Given the description of an element on the screen output the (x, y) to click on. 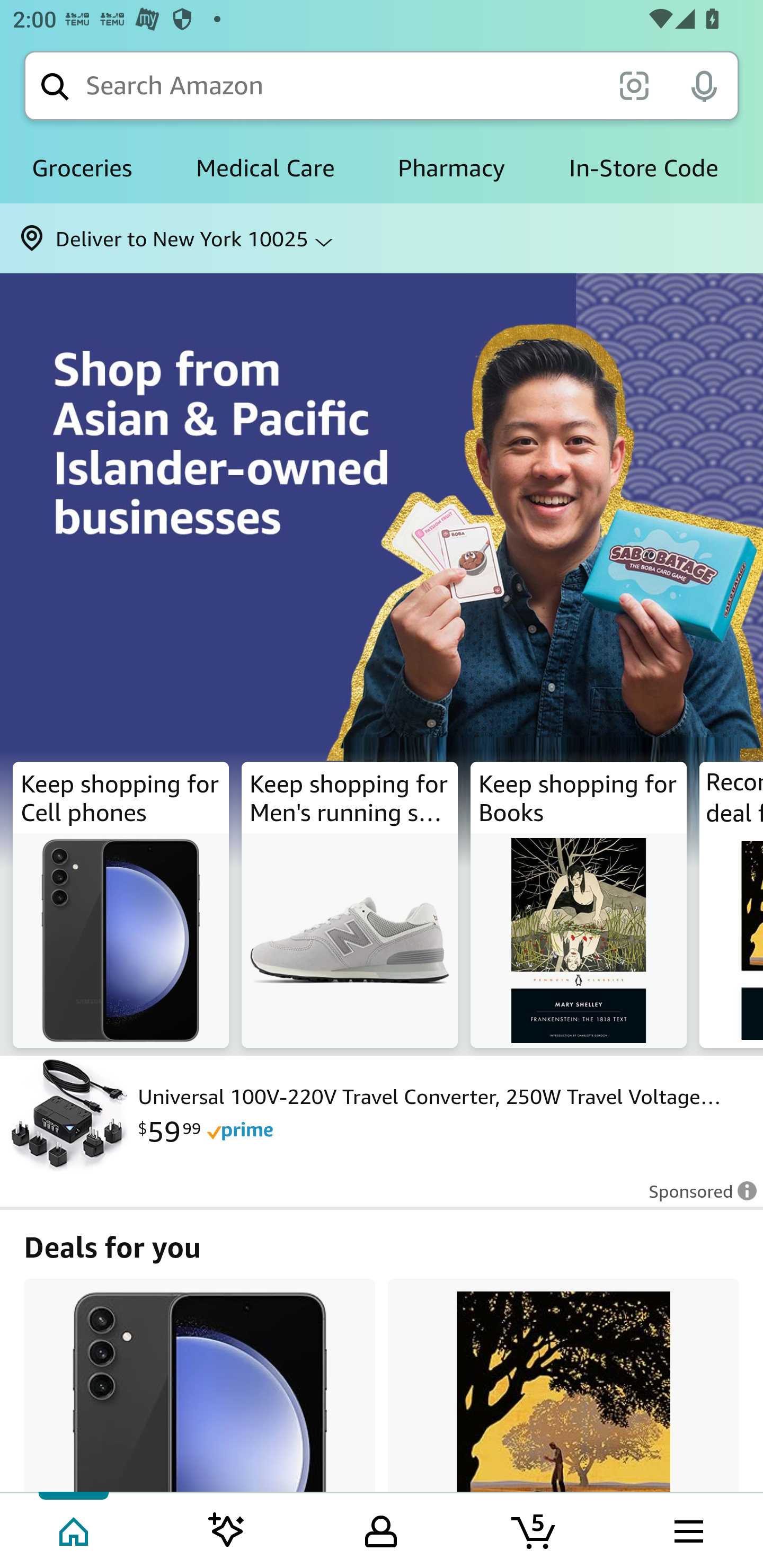
scan it (633, 85)
Groceries (82, 168)
Medical Care (265, 168)
Pharmacy (451, 168)
In-Store Code (643, 168)
Deliver to New York 10025 ⌵ (381, 237)
Keep shopping for Books Keep shopping for Books (578, 904)
Leave feedback on Sponsored ad Sponsored  (696, 1196)
Home Tab 1 of 5 (75, 1529)
Inspire feed Tab 2 of 5 (227, 1529)
Your Amazon.com Tab 3 of 5 (380, 1529)
Cart 5 items Tab 4 of 5 5 (534, 1529)
Browse menu Tab 5 of 5 (687, 1529)
